Given the description of an element on the screen output the (x, y) to click on. 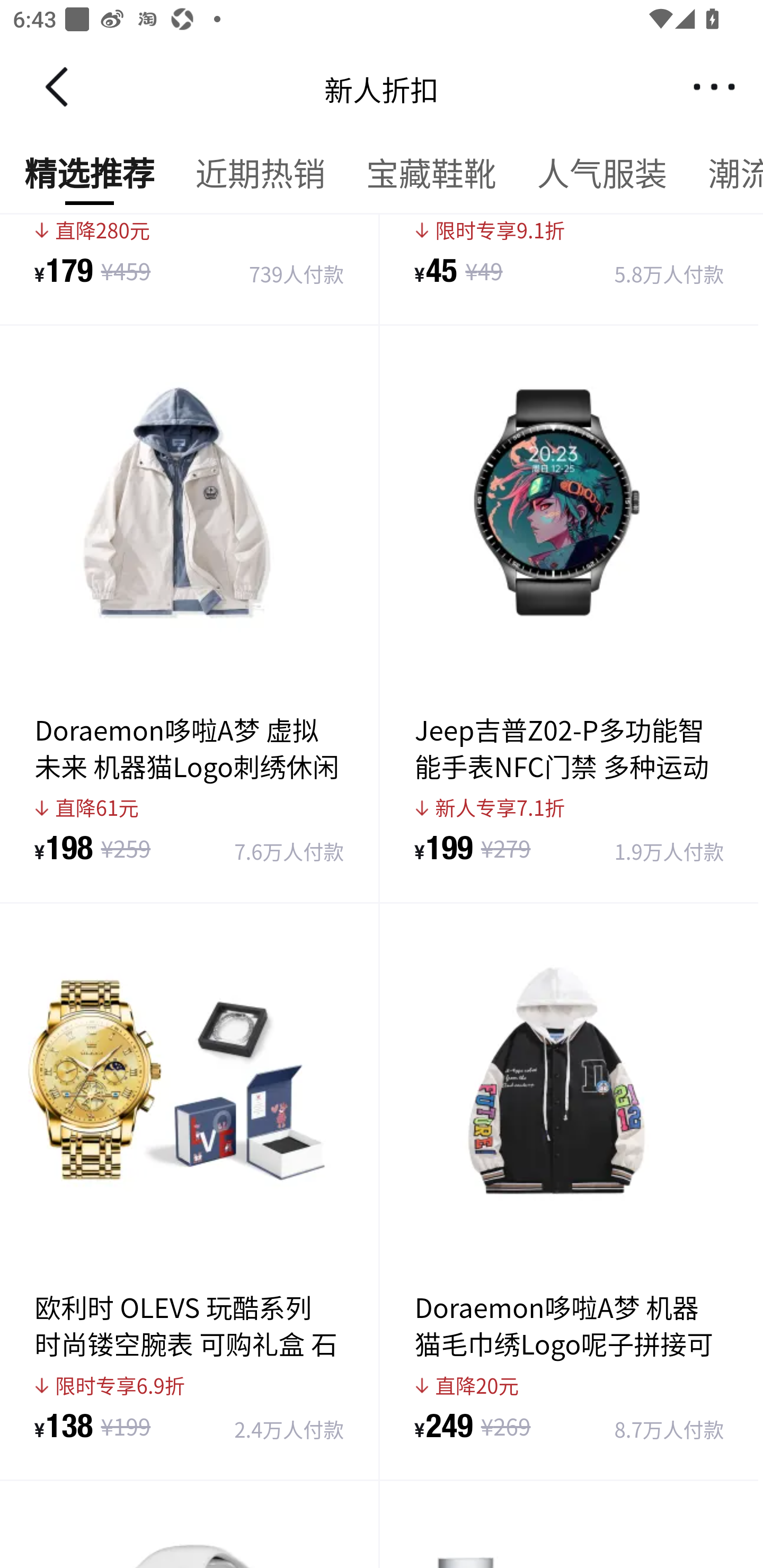
resize,w_300 (189, 1426)
resize,w_300 (569, 1426)
